Given the description of an element on the screen output the (x, y) to click on. 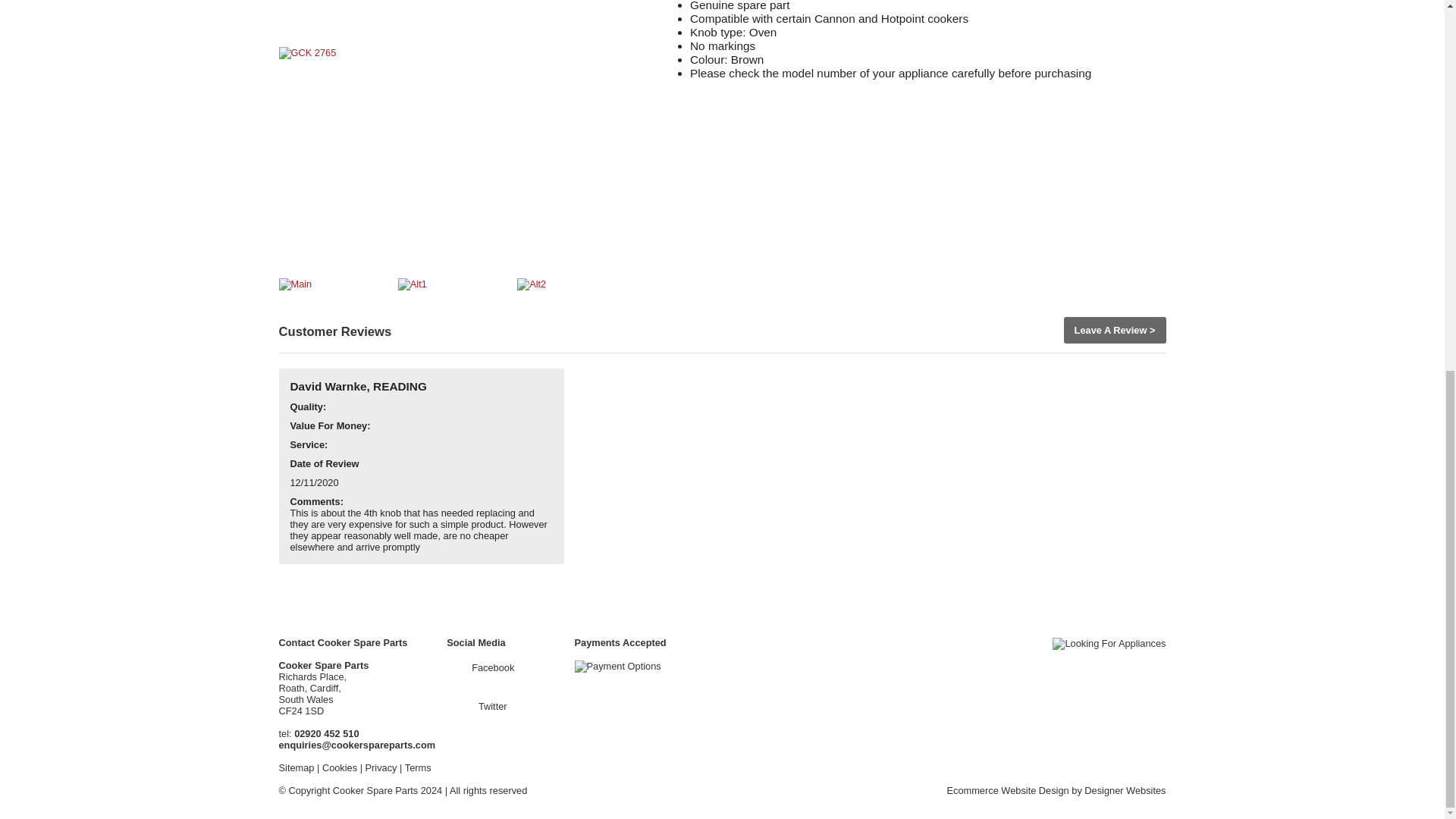
02920 452 510 (326, 733)
call us today on 02920 452 510 (326, 733)
Leave a review (1114, 329)
Facebook (482, 667)
Terms (417, 767)
Cookies (338, 767)
Sitemap (296, 767)
Privacy (381, 767)
